Given the description of an element on the screen output the (x, y) to click on. 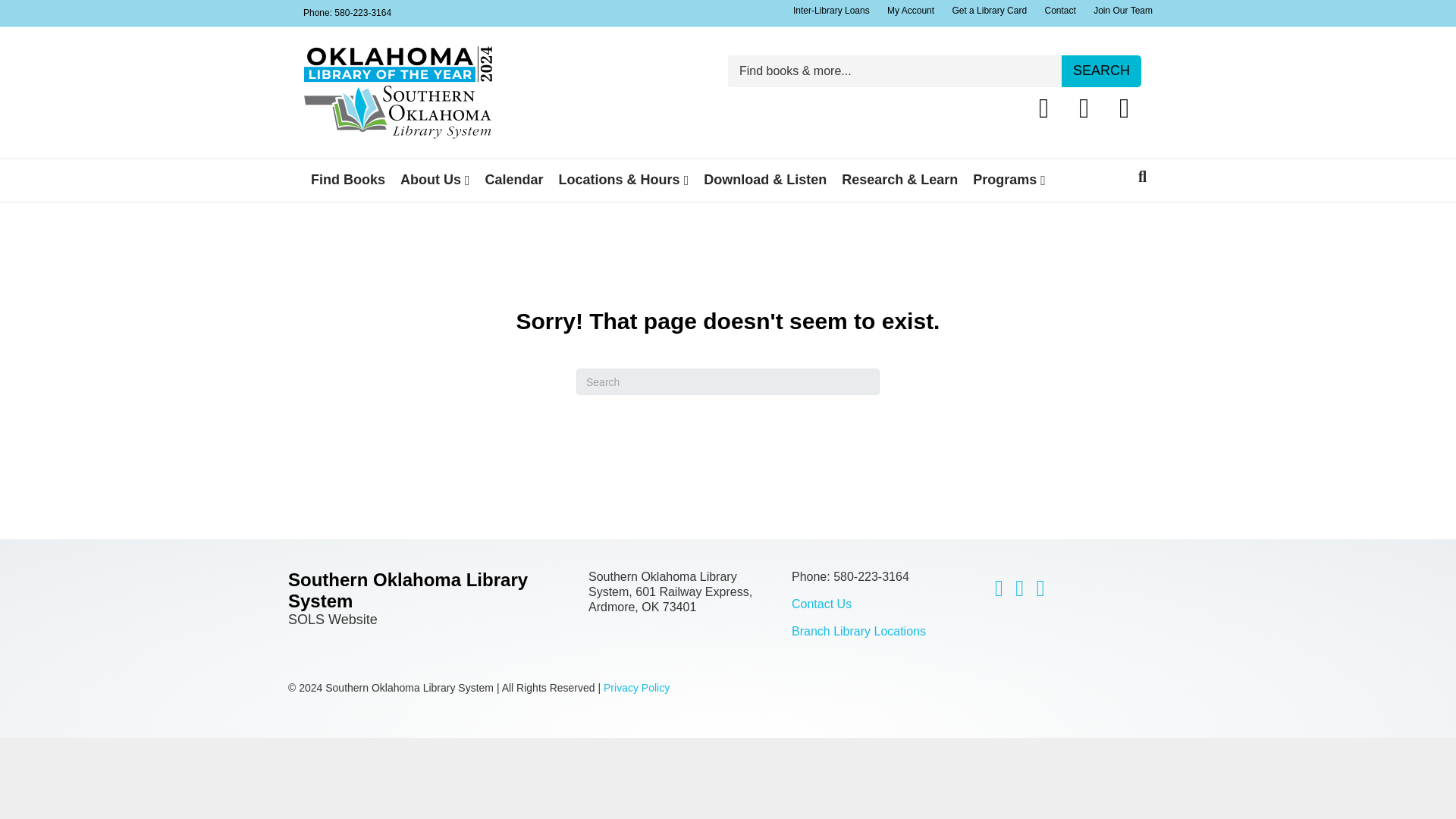
Inter-Library Loans (831, 10)
Search (1101, 71)
Join Our Team (1123, 10)
Search (1101, 71)
Type and press Enter to search. (727, 381)
About Us (435, 179)
Search (1101, 71)
My Account (910, 10)
Find Books (347, 179)
Get a Library Card (988, 10)
